Given the description of an element on the screen output the (x, y) to click on. 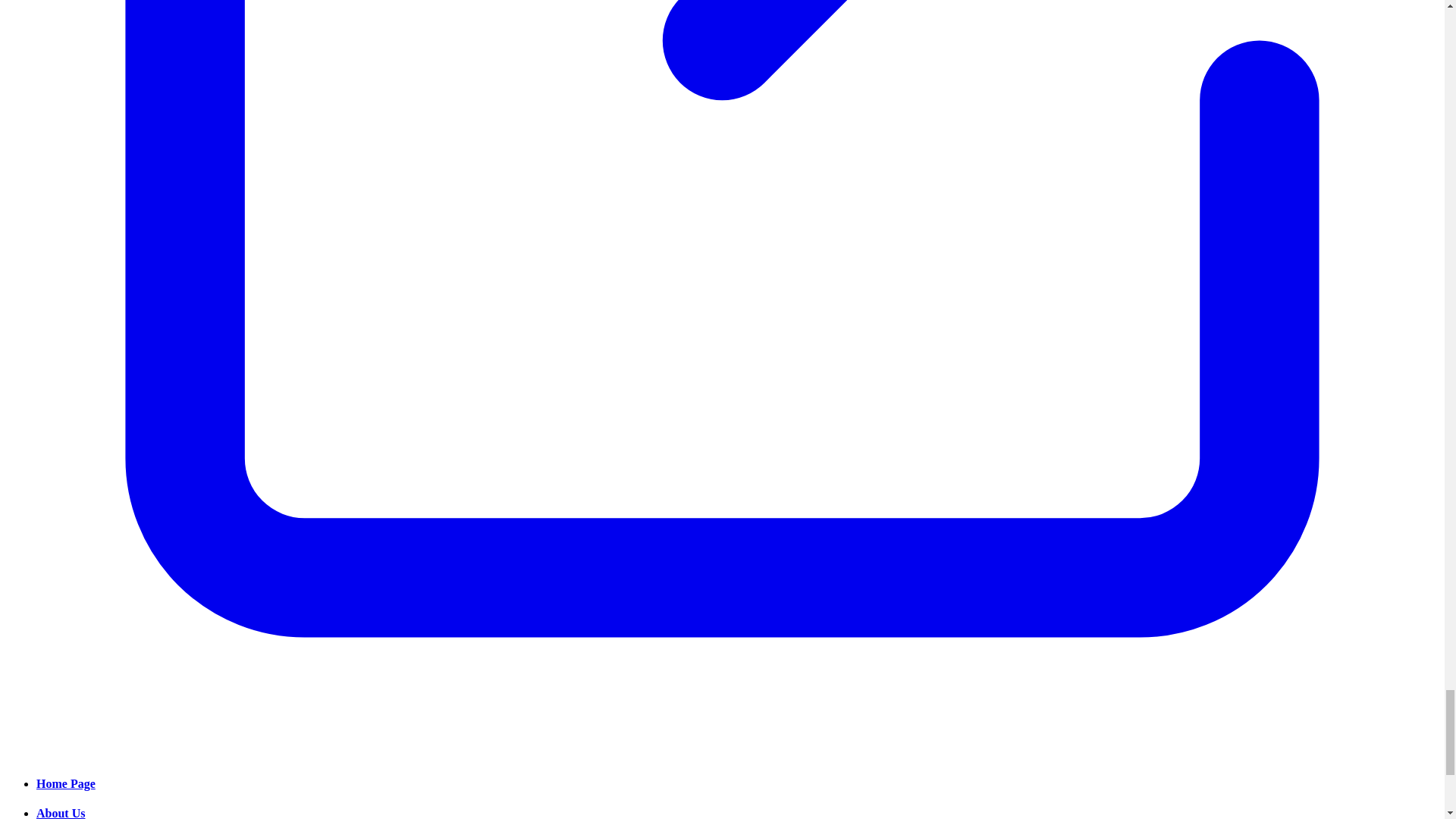
Home Page (66, 783)
About Us (60, 812)
